Given the description of an element on the screen output the (x, y) to click on. 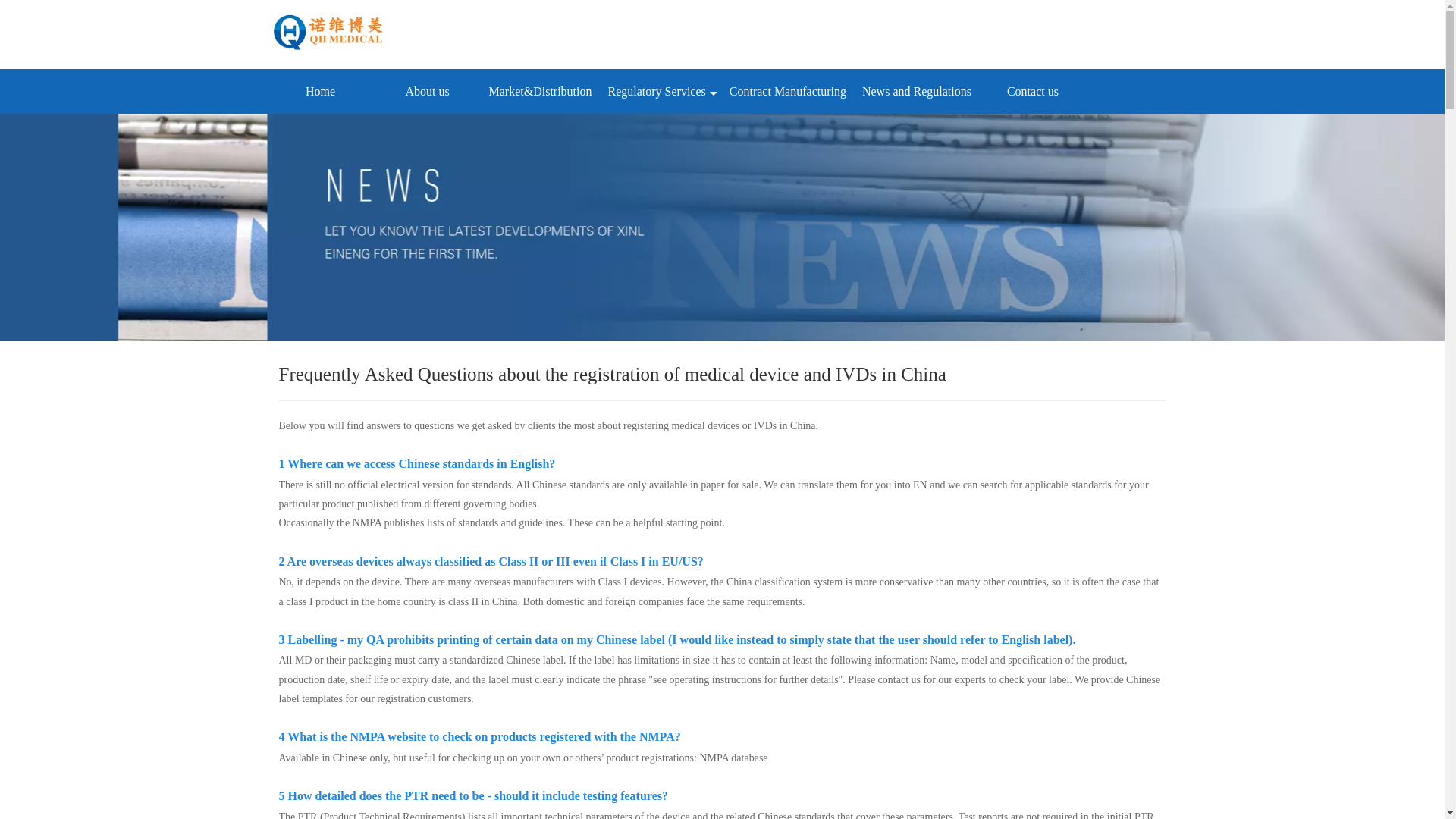
QH Medical (333, 33)
About us (427, 90)
Contact us (1032, 90)
Regulatory Services (660, 90)
Contract Manufacturing (787, 90)
News and Regulations (916, 90)
Home (320, 90)
